Given the description of an element on the screen output the (x, y) to click on. 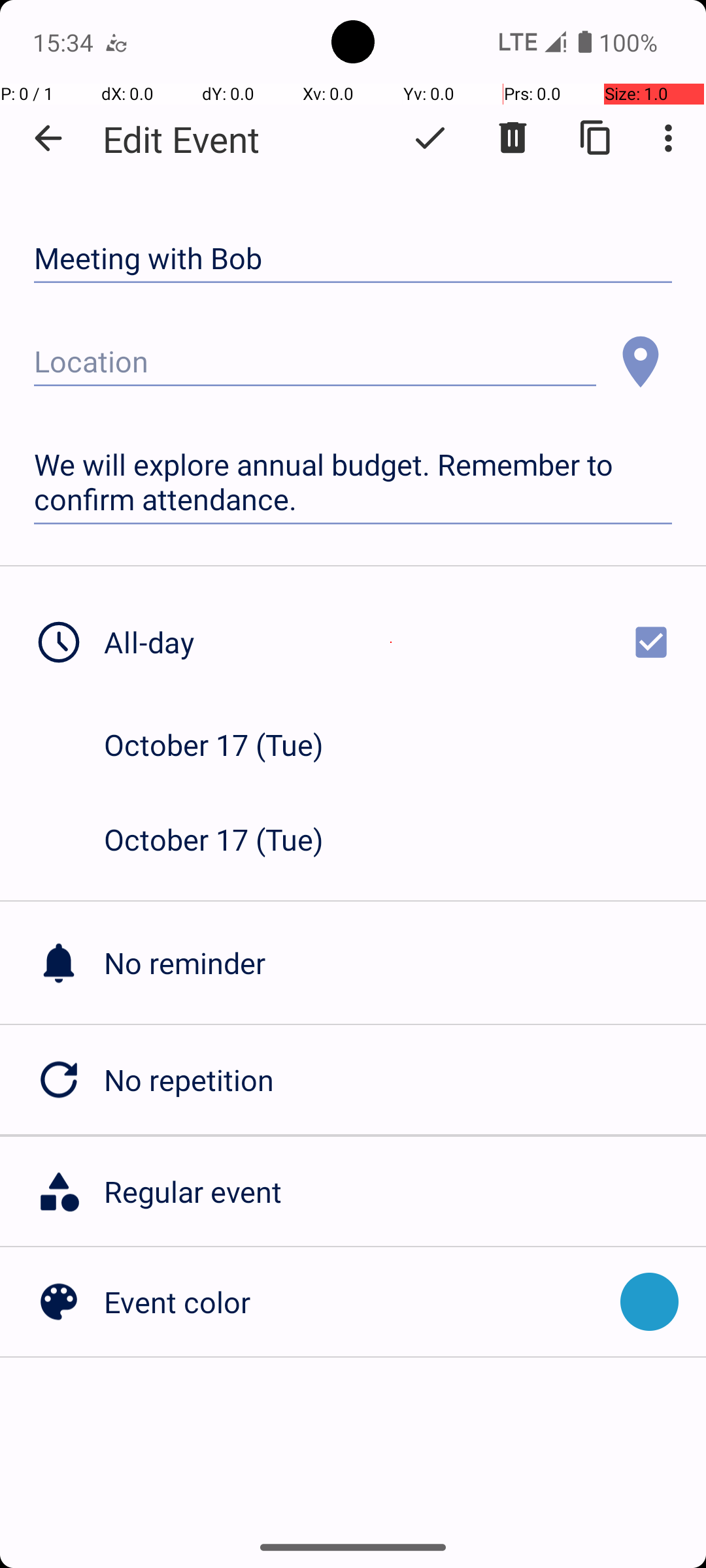
Meeting with Bob Element type: android.widget.EditText (352, 258)
We will explore annual budget. Remember to confirm attendance. Element type: android.widget.EditText (352, 482)
October 17 (Tue) Element type: android.widget.TextView (227, 744)
